Given the description of an element on the screen output the (x, y) to click on. 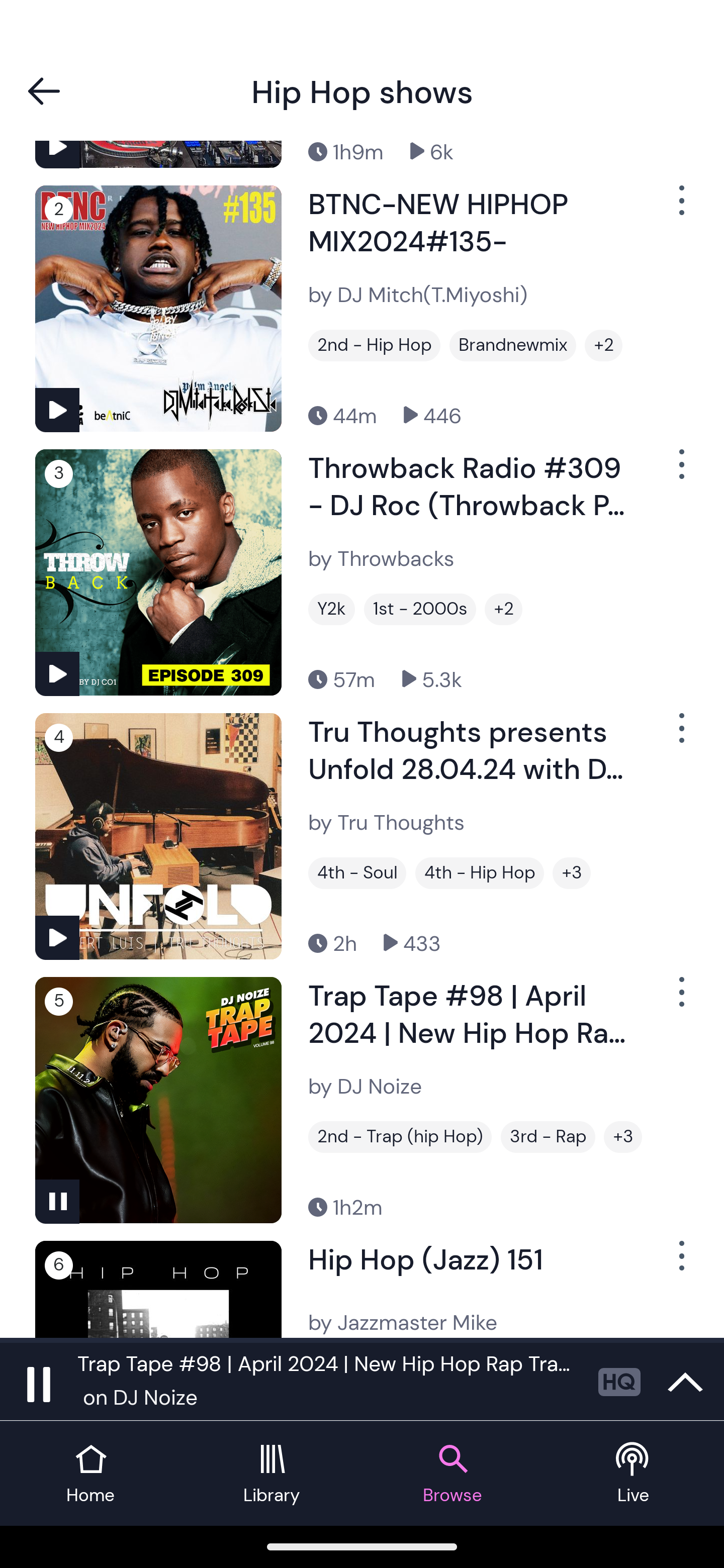
Show Options Menu Button (679, 207)
2nd - Hip Hop (374, 344)
Brandnewmix (512, 344)
Show Options Menu Button (679, 472)
Y2k (331, 609)
1st - 2000s (420, 609)
Show Options Menu Button (679, 735)
4th - Soul (357, 873)
4th - Hip Hop (479, 873)
Show Options Menu Button (679, 999)
2nd - Trap (hip Hop) (399, 1136)
3rd - Rap (548, 1136)
Show Options Menu Button (679, 1263)
Home tab Home (90, 1473)
Library tab Library (271, 1473)
Browse tab Browse (452, 1473)
Live tab Live (633, 1473)
